Given the description of an element on the screen output the (x, y) to click on. 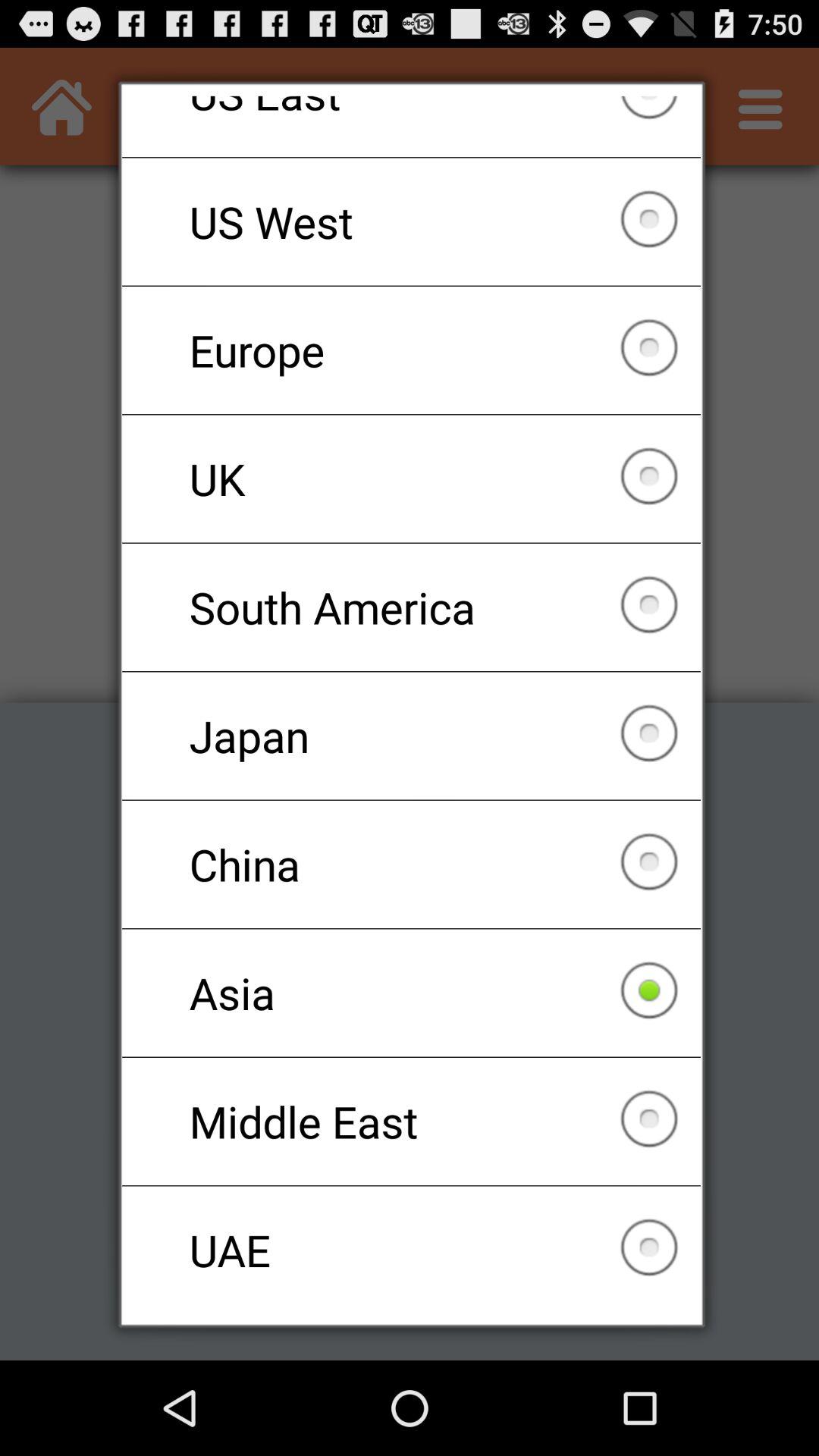
open checkbox below the     south america checkbox (411, 735)
